Given the description of an element on the screen output the (x, y) to click on. 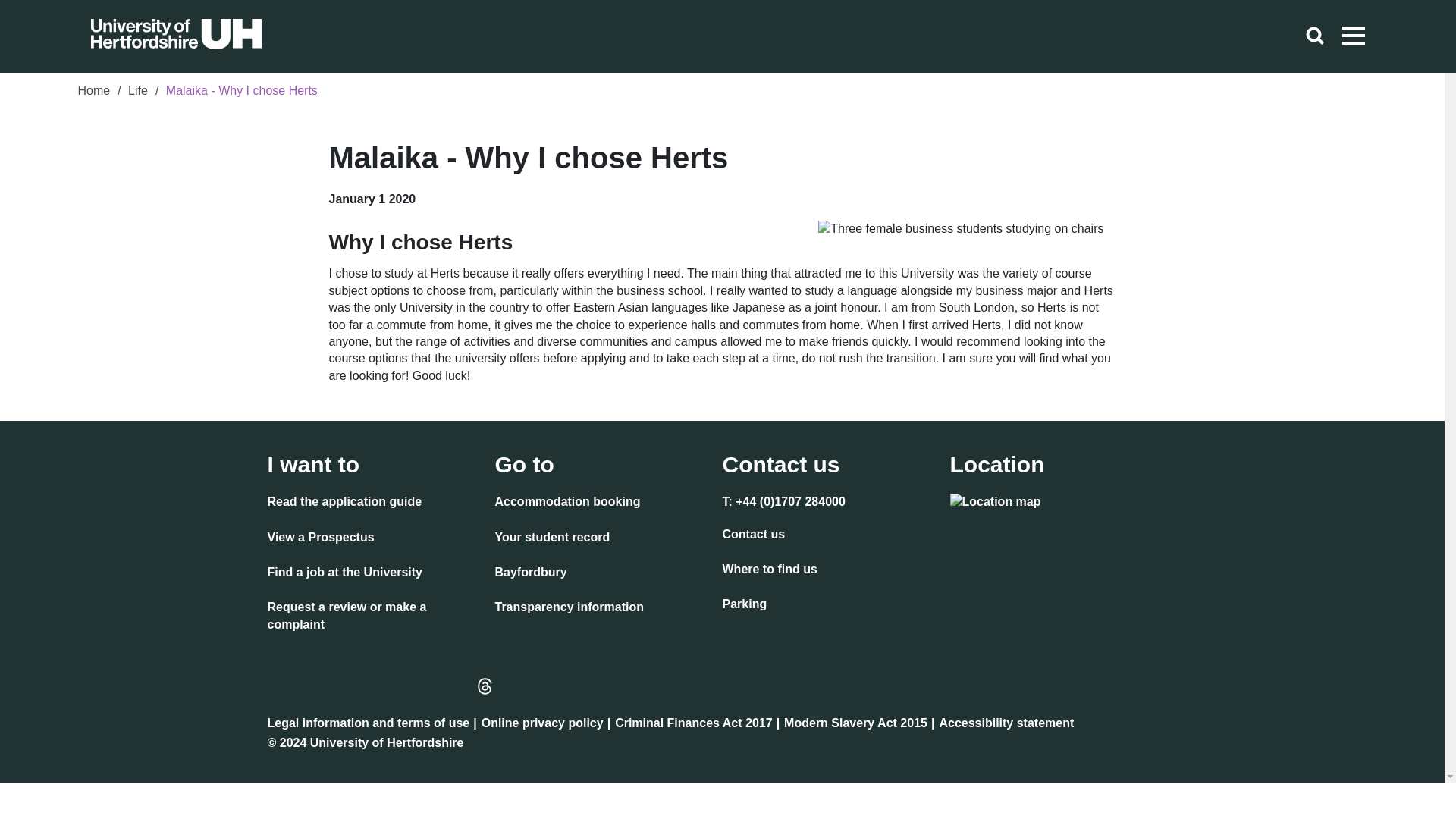
Request a review or make a complaint (374, 617)
Transparency information (569, 608)
Parking (744, 605)
View a Prospectus (320, 538)
Home (93, 92)
Instagram (315, 685)
Bayfordbury (530, 573)
Accommodation booking (567, 503)
Life (138, 92)
search (1316, 36)
Read the application guide (344, 503)
Contact us (753, 536)
Facebook (282, 685)
Find a job at the University (344, 573)
Where to find us (769, 570)
